Given the description of an element on the screen output the (x, y) to click on. 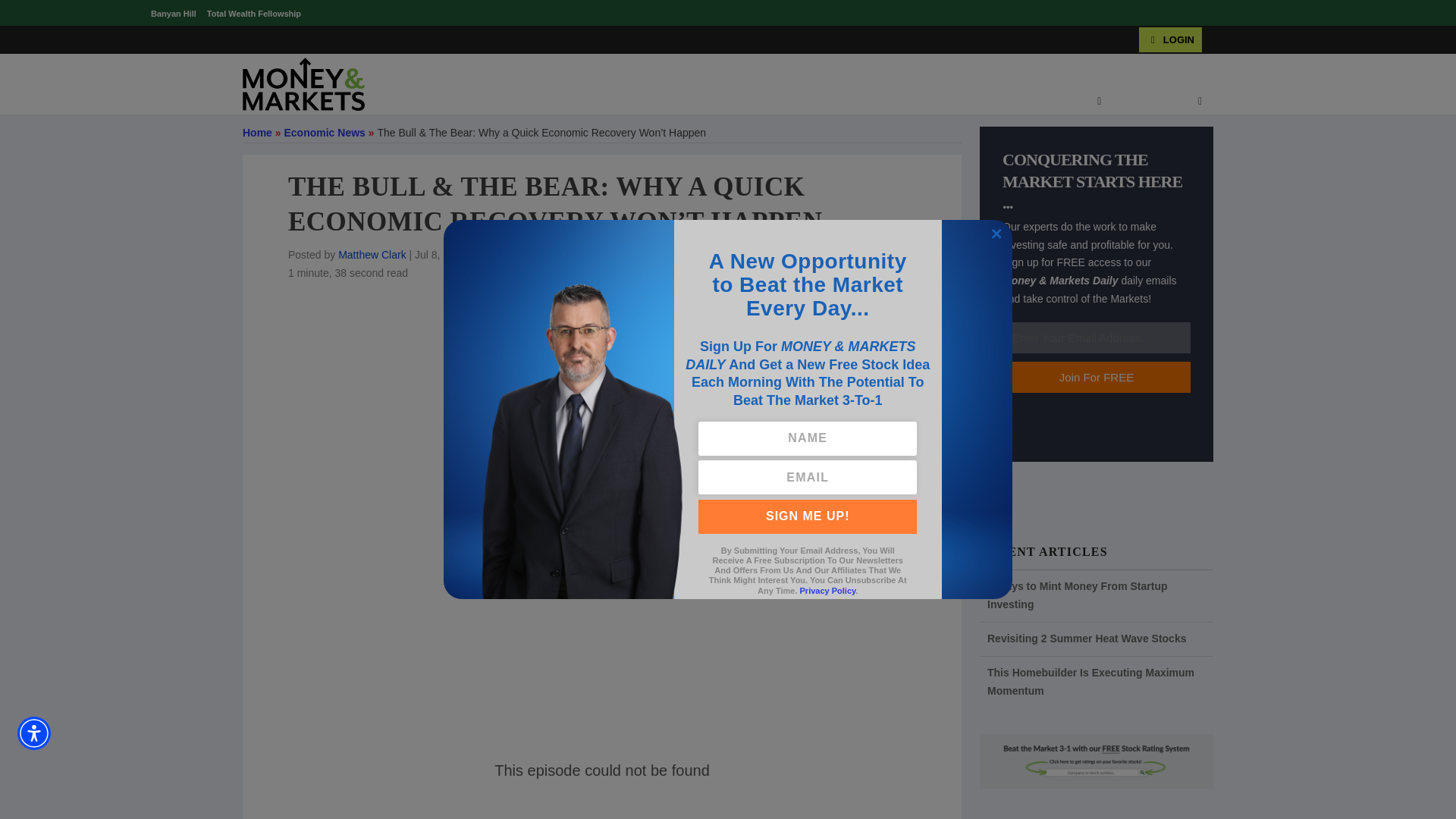
Economy (497, 254)
EXPERTS (1072, 101)
Matthew Clark (371, 254)
CONTACT (1149, 101)
player-captivate (601, 779)
Economic News (324, 132)
Home (257, 132)
PREMIUM SERVICES (724, 101)
RESEARCH (830, 101)
Accessibility Menu (33, 733)
Podcast (543, 254)
STOCK RATINGS (604, 101)
Total Wealth Fellowship (253, 13)
Banyan Hill (173, 13)
Posts by Matthew Clark (371, 254)
